Given the description of an element on the screen output the (x, y) to click on. 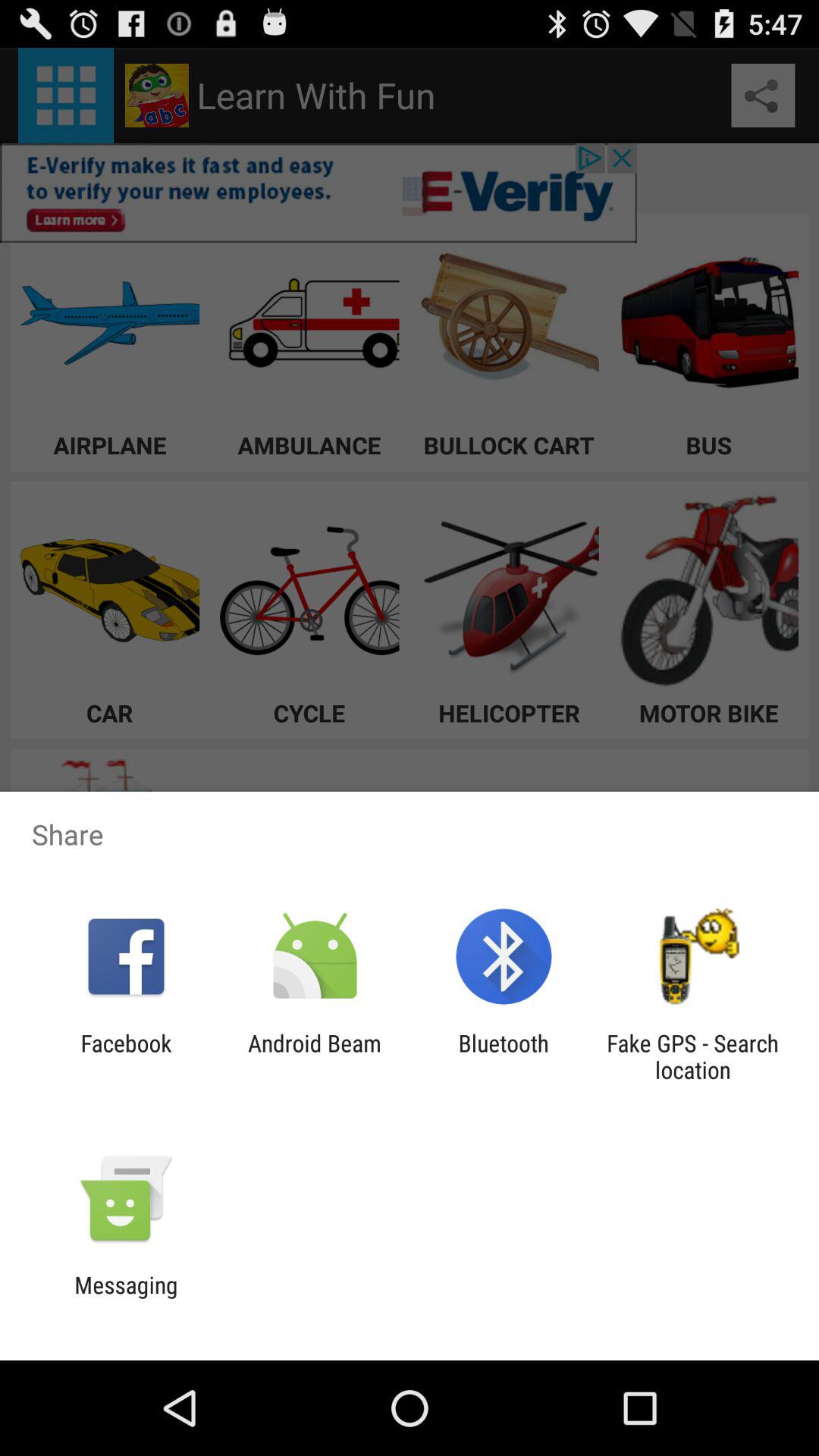
turn off bluetooth icon (503, 1056)
